Given the description of an element on the screen output the (x, y) to click on. 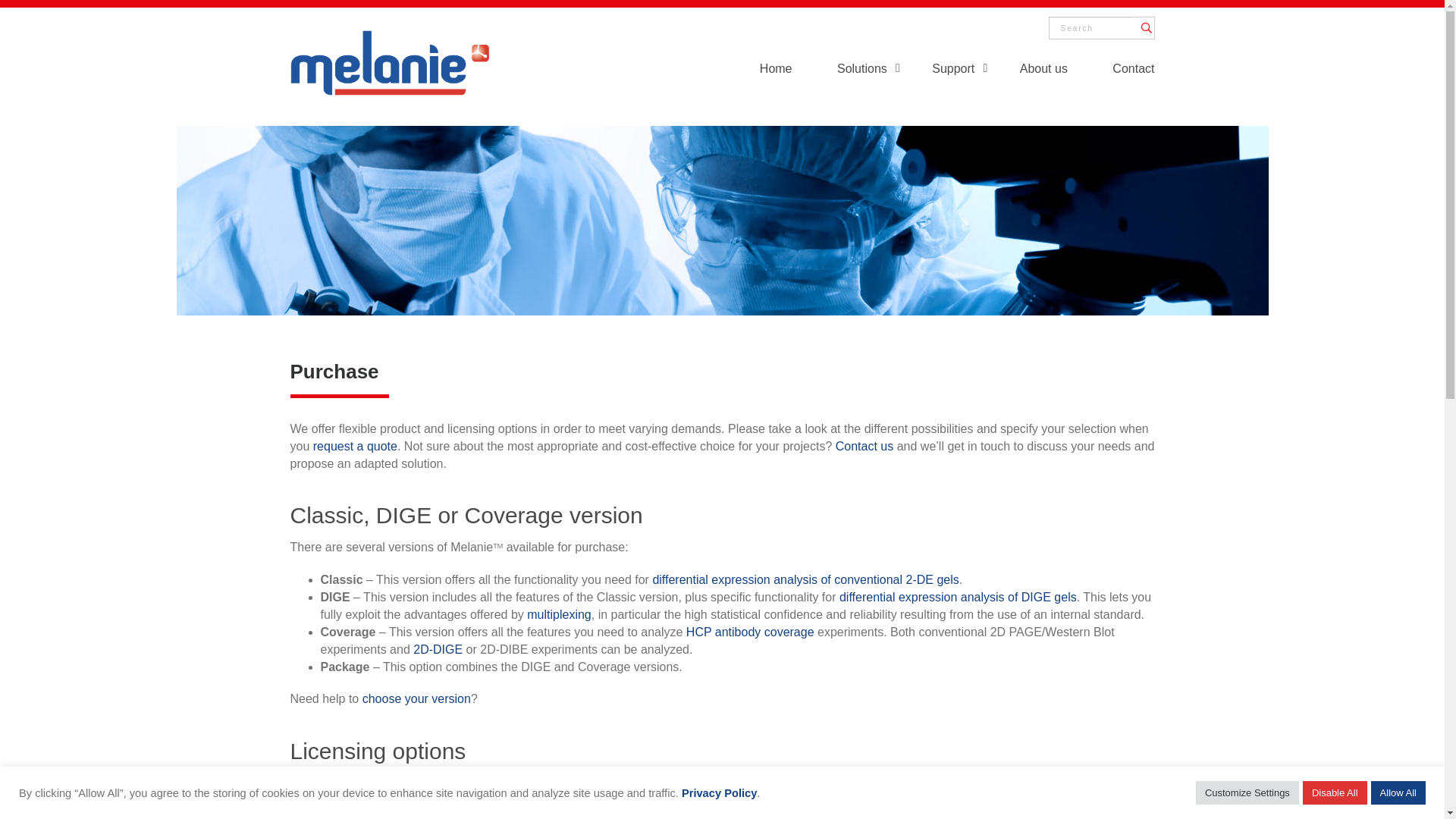
multiplexing Element type: text (558, 614)
Support Element type: text (952, 70)
differential expression analysis of conventional 2-DE gels Element type: text (805, 579)
choose your version Element type: text (416, 698)
differential expression analysis of DIGE gels Element type: text (957, 596)
Customize Settings Element type: text (1247, 792)
request a quote Element type: text (355, 445)
Disable All Element type: text (1334, 792)
HCP antibody coverage Element type: text (750, 631)
Privacy Policy Element type: text (718, 793)
Home Element type: text (775, 70)
Solutions Element type: text (862, 70)
Contact Element type: text (1133, 70)
About us Element type: text (1043, 70)
Contact us Element type: text (864, 445)
Melanie Element type: hover (389, 60)
Allow All Element type: text (1398, 792)
2D-DIGE Element type: text (437, 649)
